Given the description of an element on the screen output the (x, y) to click on. 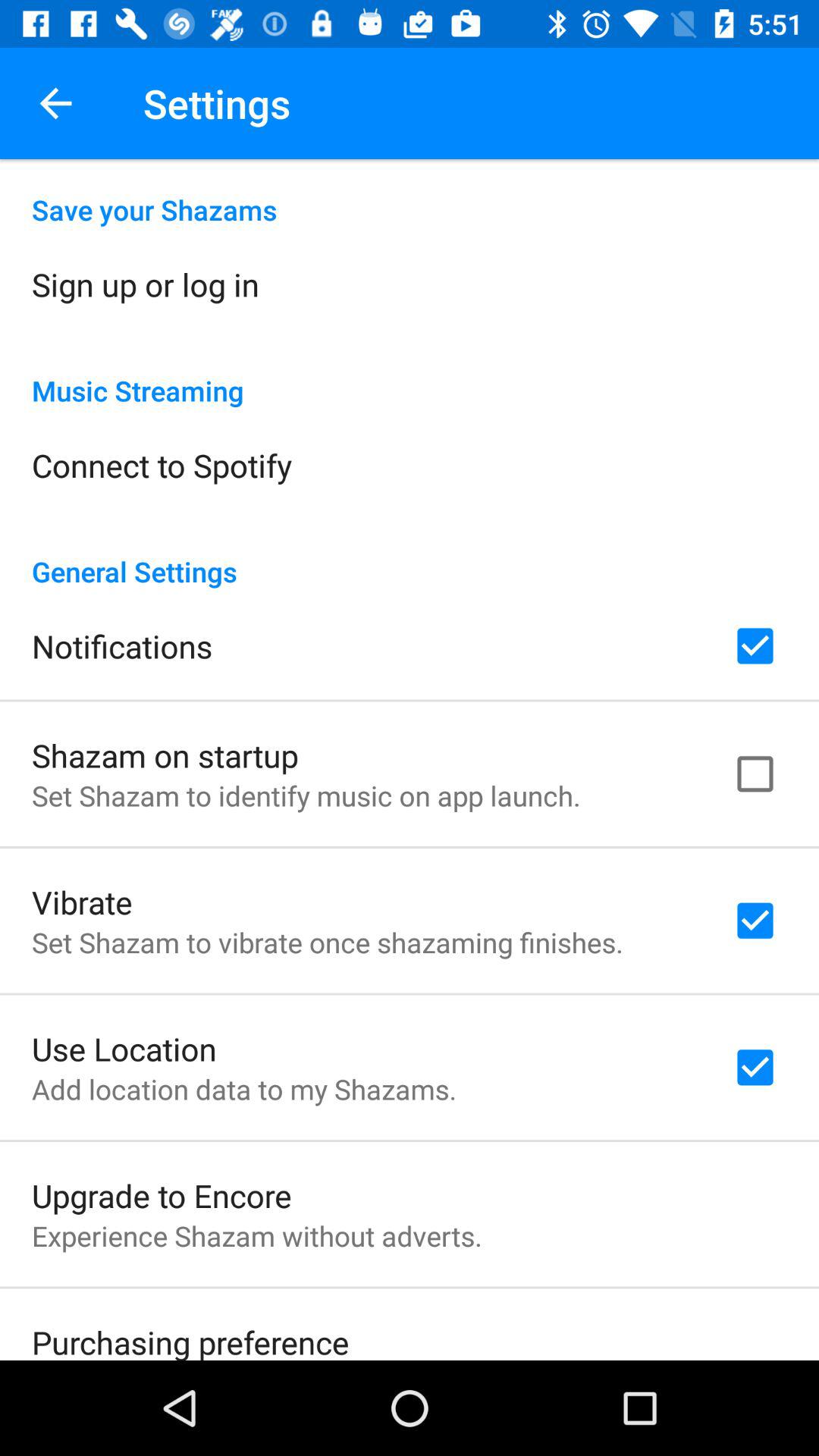
click icon below use location item (243, 1088)
